Given the description of an element on the screen output the (x, y) to click on. 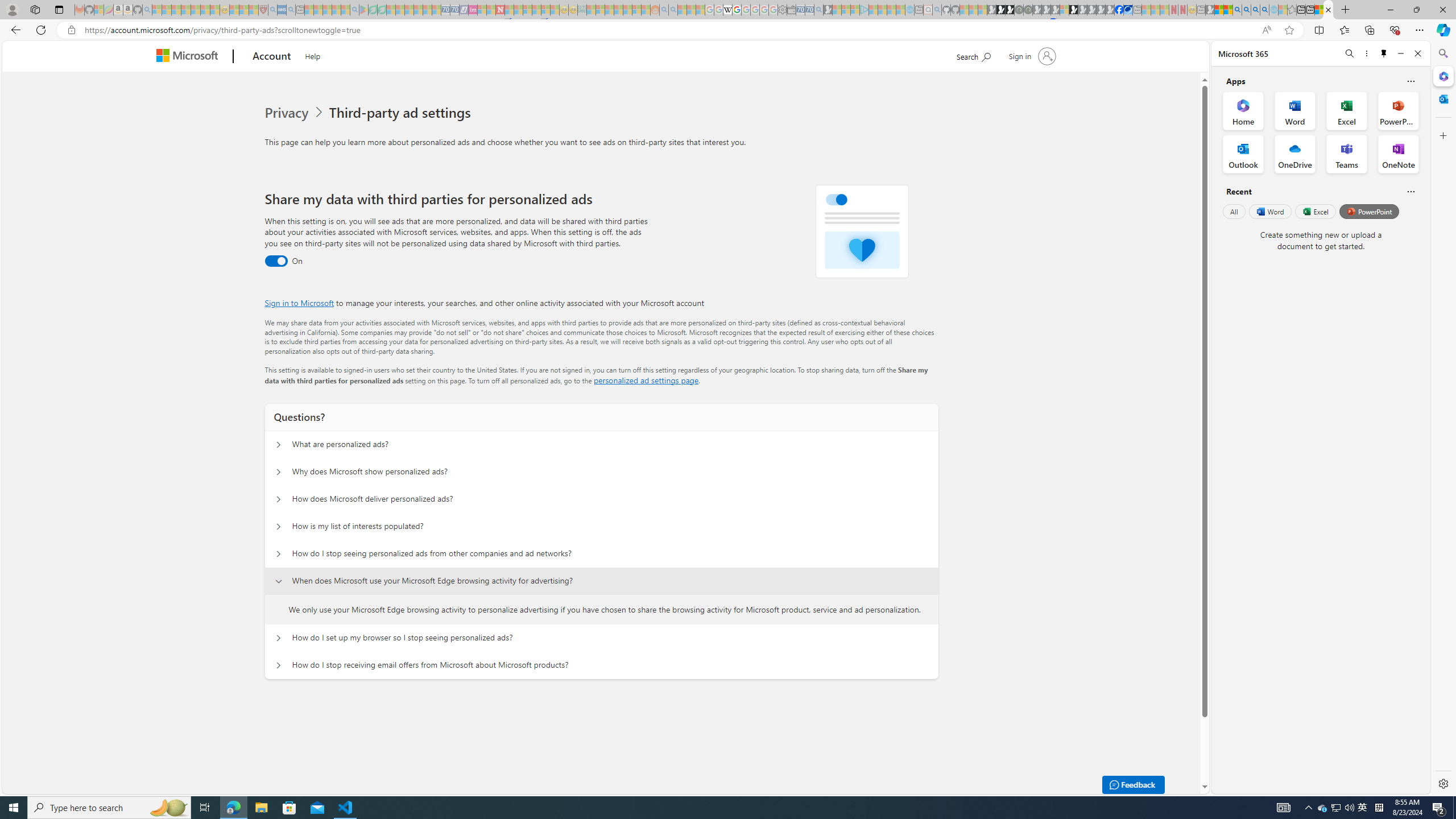
Is this helpful? (1410, 191)
Future Focus Report 2024 - Sleeping (1027, 9)
Target page - Wikipedia (726, 9)
OneNote Office App (1398, 154)
Wallet - Sleeping (790, 9)
